Given the description of an element on the screen output the (x, y) to click on. 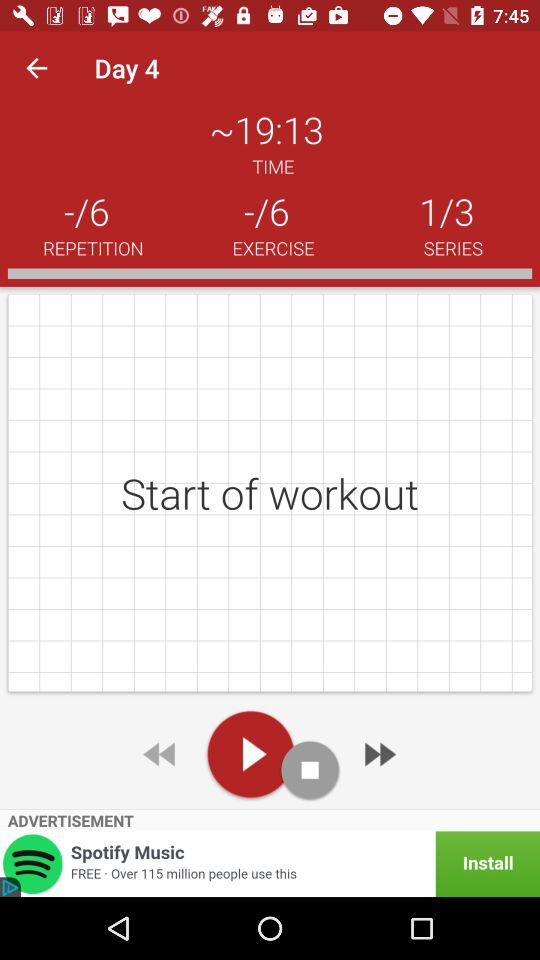
install advertiser app (270, 864)
